Given the description of an element on the screen output the (x, y) to click on. 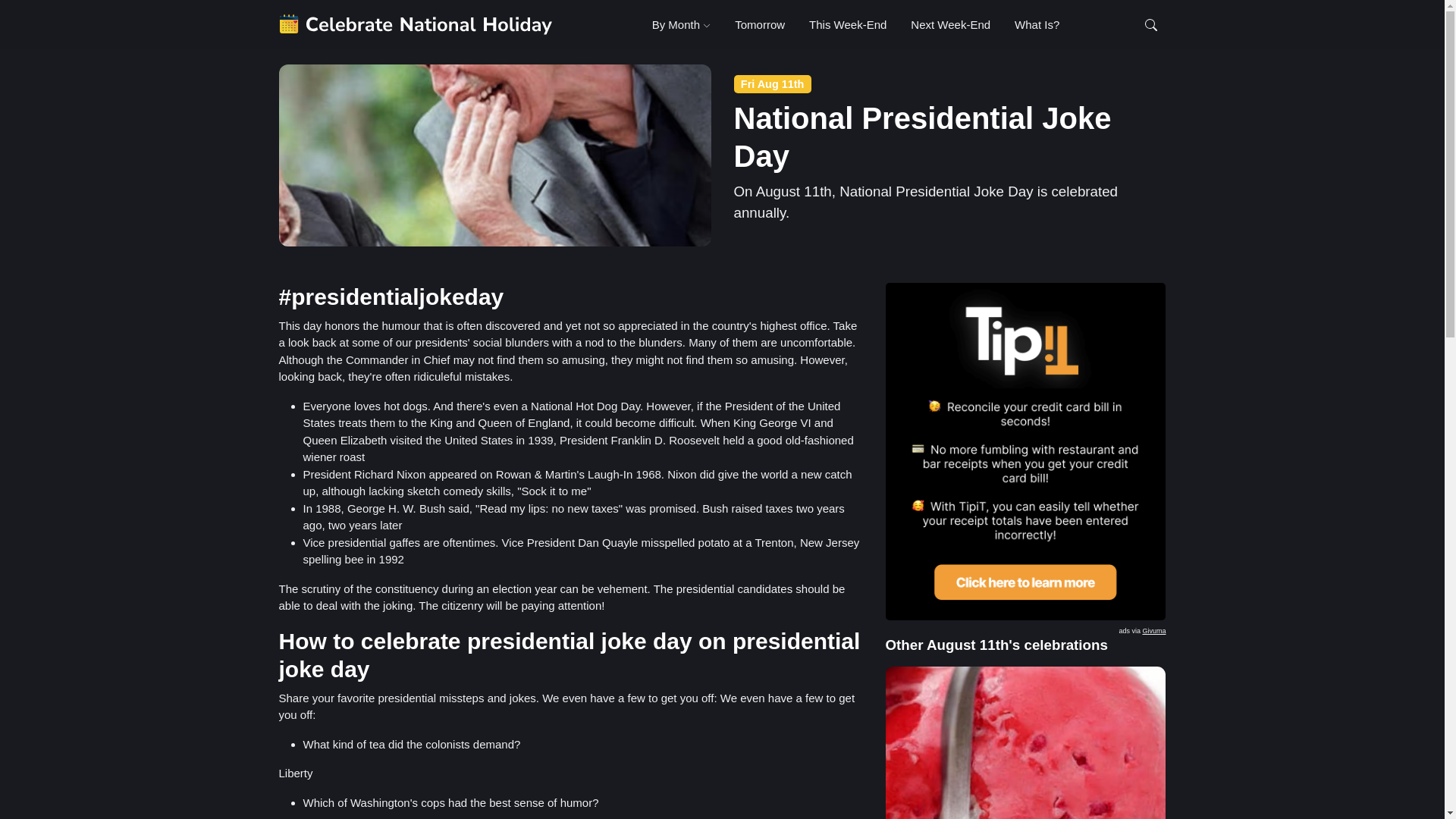
Tomorrow (759, 24)
This Week-End (847, 24)
Fri Aug 11th (771, 84)
Givuma (849, 24)
By Month (1153, 630)
